Given the description of an element on the screen output the (x, y) to click on. 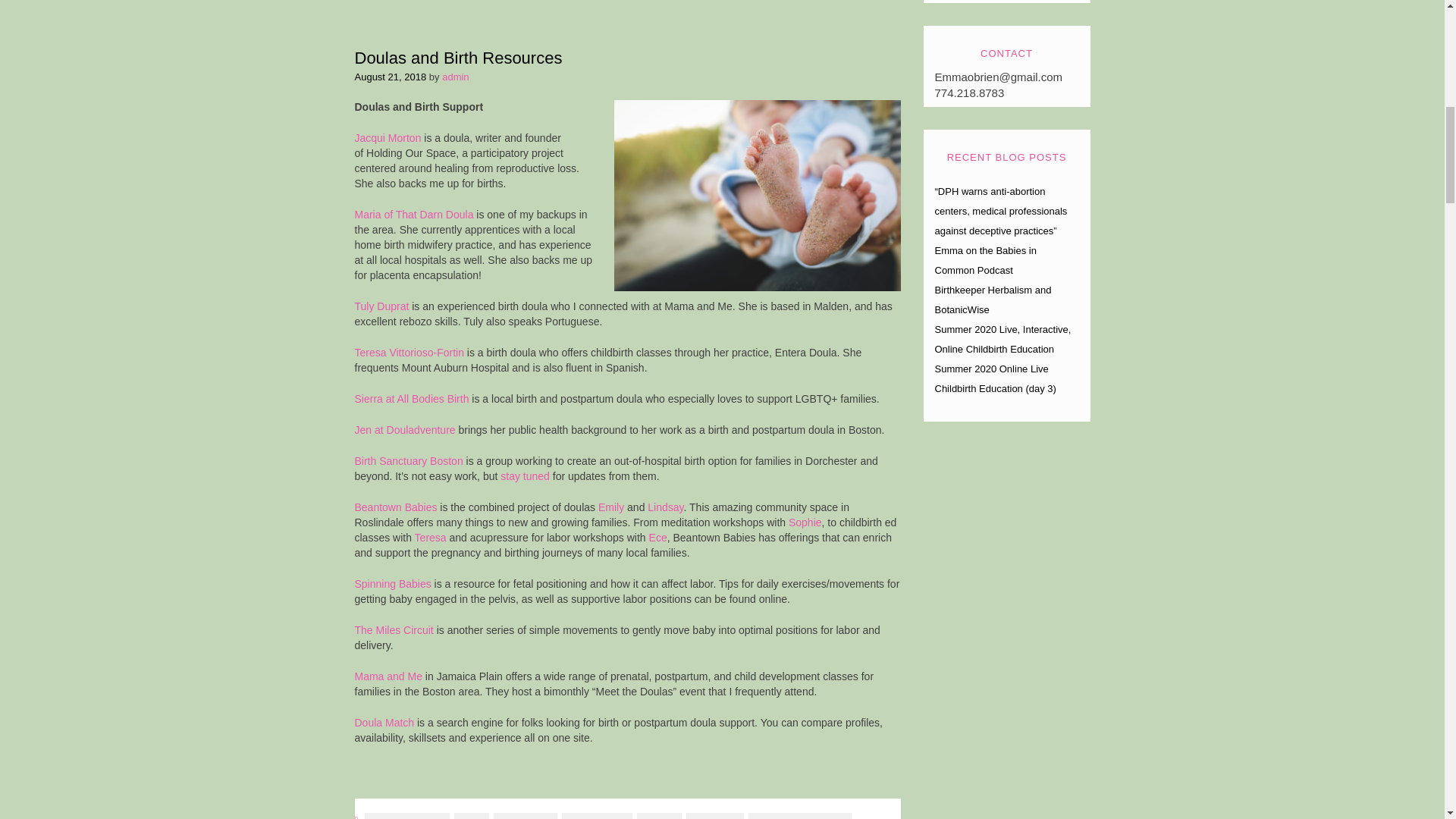
Birth Sanctuary Boston (409, 460)
admin (455, 76)
Doulas and Birth Resources (458, 57)
Sierra at All Bodies Birth (411, 398)
Jacqui Morton (388, 137)
Teresa Vittorioso-Fortin (409, 352)
Jen at Douladventure (405, 429)
stay tuned (525, 476)
Tuly Duprat (382, 306)
Maria of That Darn Doula (414, 214)
